Given the description of an element on the screen output the (x, y) to click on. 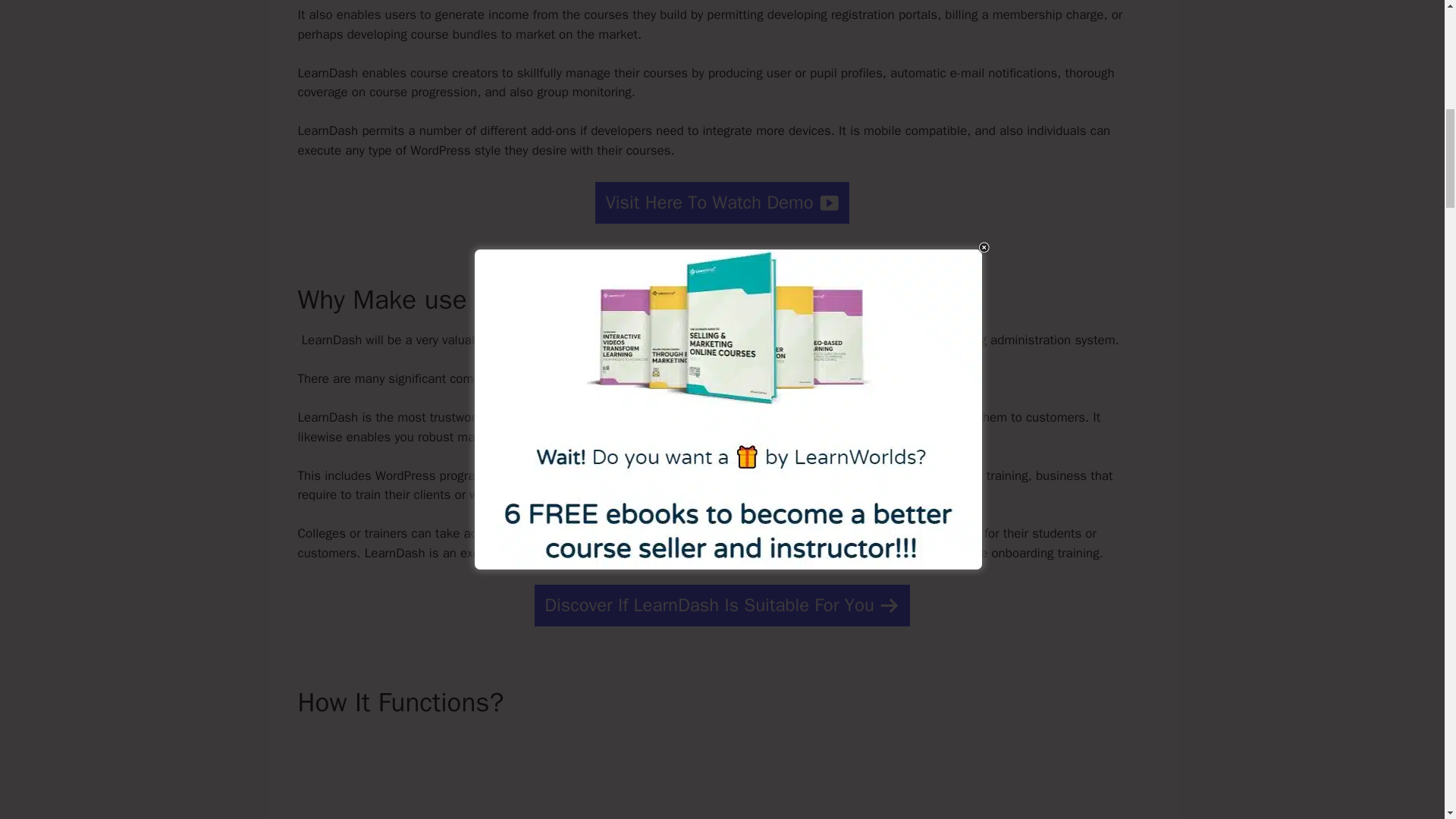
Visit Here To Watch Demo (721, 202)
Discover If LearnDash Is Suitable For You (722, 605)
LMS (735, 475)
Scroll back to top (1406, 720)
